Given the description of an element on the screen output the (x, y) to click on. 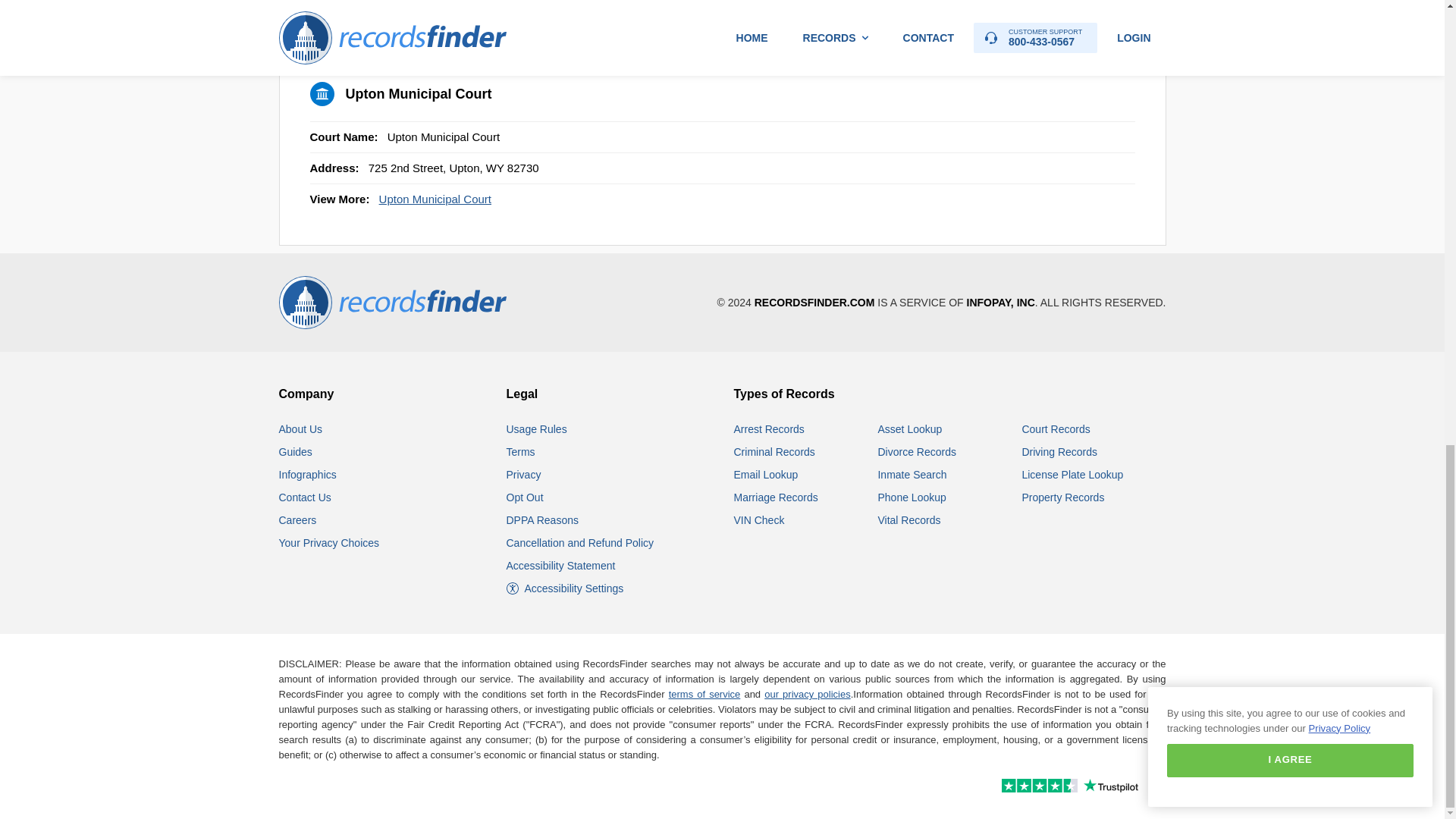
RecordsFinder.com Privacy Policy (523, 474)
RecordsFinder.com Terms and Conditions (520, 451)
RecordsFinder.com Accessibility Statement (560, 565)
RecordsFinder.com Opt Out Instructions (524, 497)
RecordsFinder.com Cancellation and Refund Policy (579, 542)
Customer reviews powered by Trustpilot (1037, 787)
RecordsFinder.com DPPA Reasons (542, 520)
View Public Records Infographics and Statistics (307, 474)
Your Privacy Choices (329, 542)
Guides and How tos (296, 451)
